Given the description of an element on the screen output the (x, y) to click on. 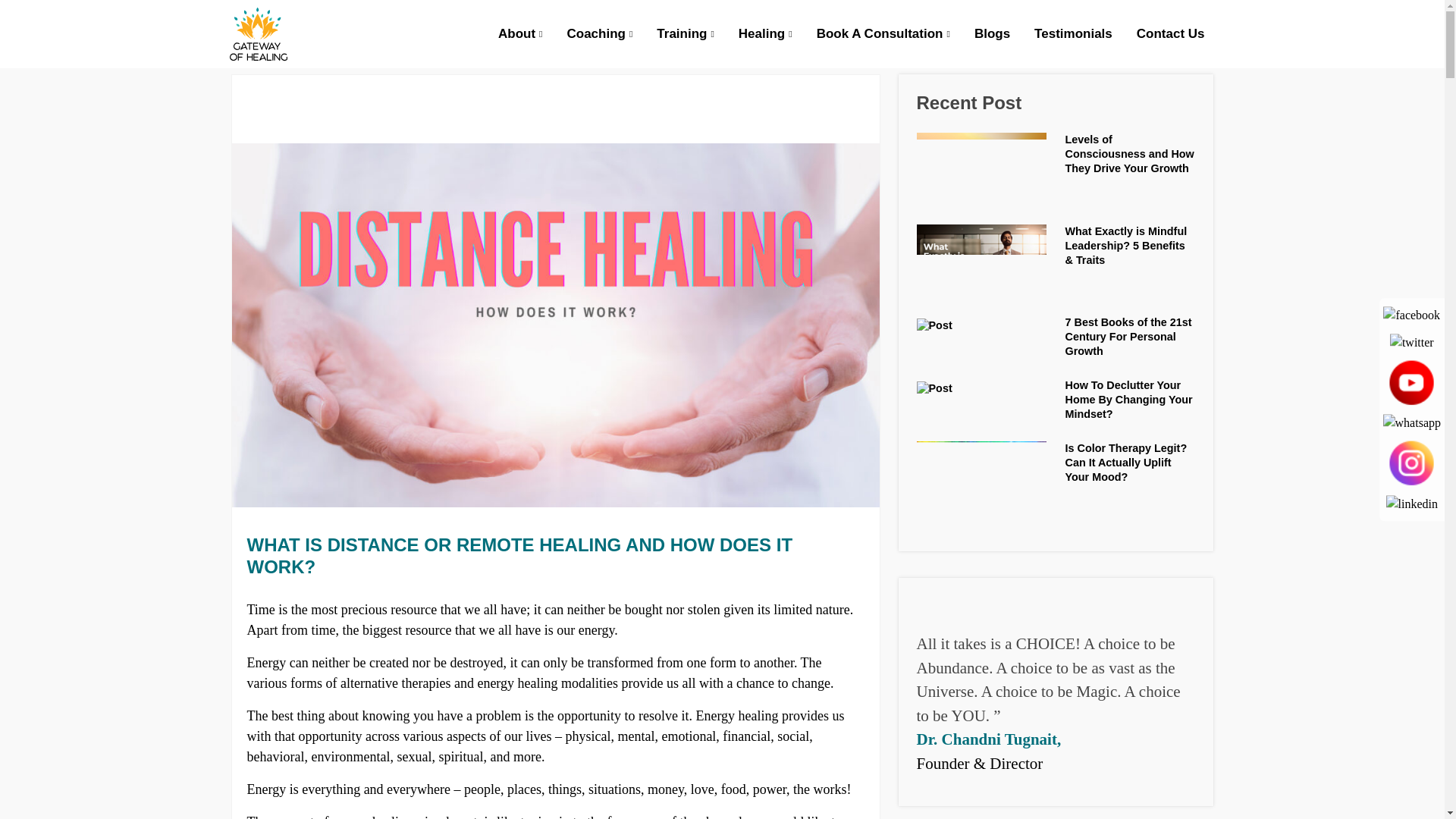
About (520, 34)
Training (684, 34)
Coaching (599, 34)
Healing (765, 34)
